Given the description of an element on the screen output the (x, y) to click on. 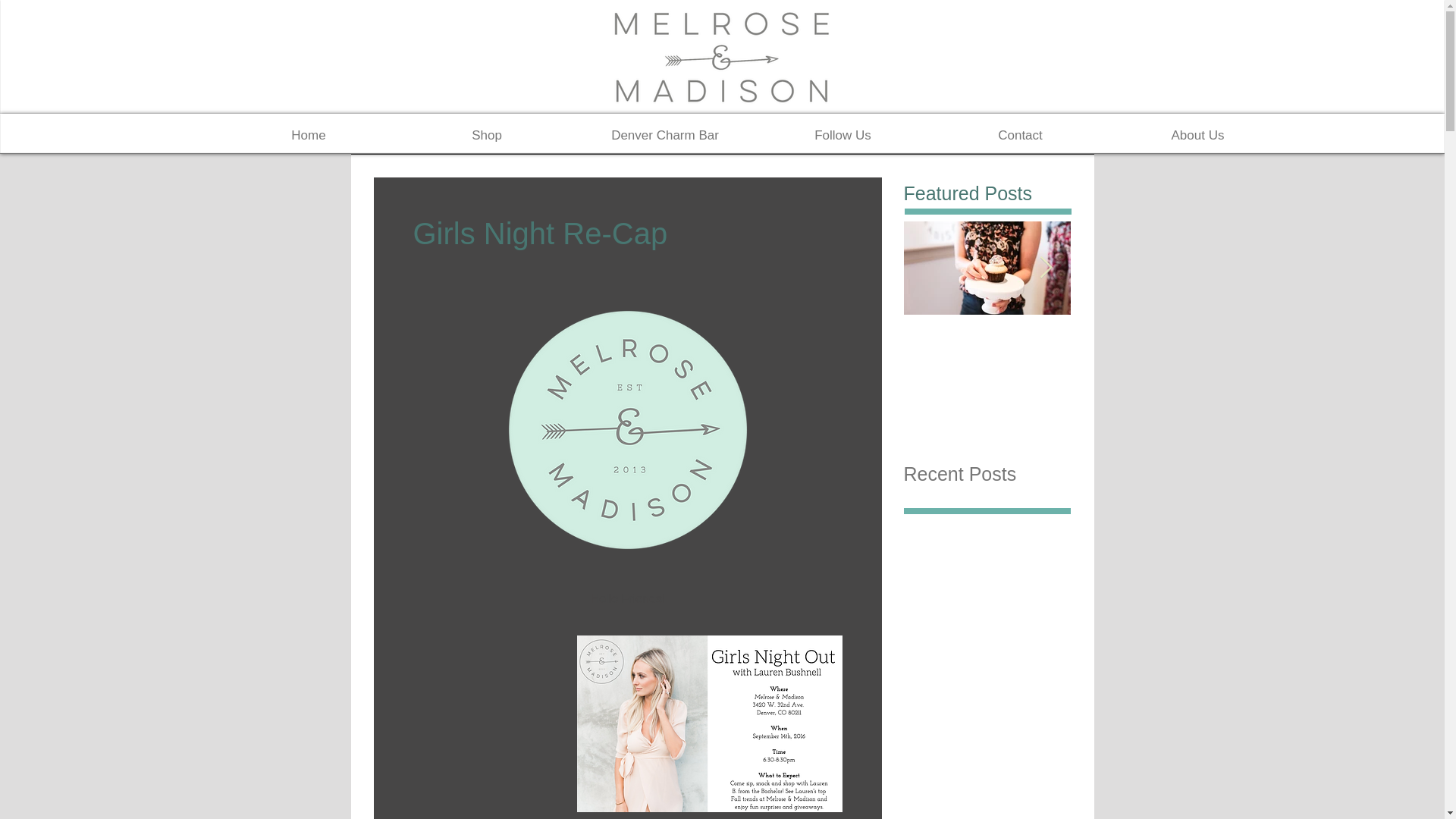
About Us (1196, 135)
Girls Night Re-Cap (1153, 343)
Contact (1019, 135)
Shop (486, 135)
Follow Us (842, 135)
Denver Charm Bar (665, 135)
Home (308, 135)
Celebrating 3 YEARS!! (987, 353)
